Given the description of an element on the screen output the (x, y) to click on. 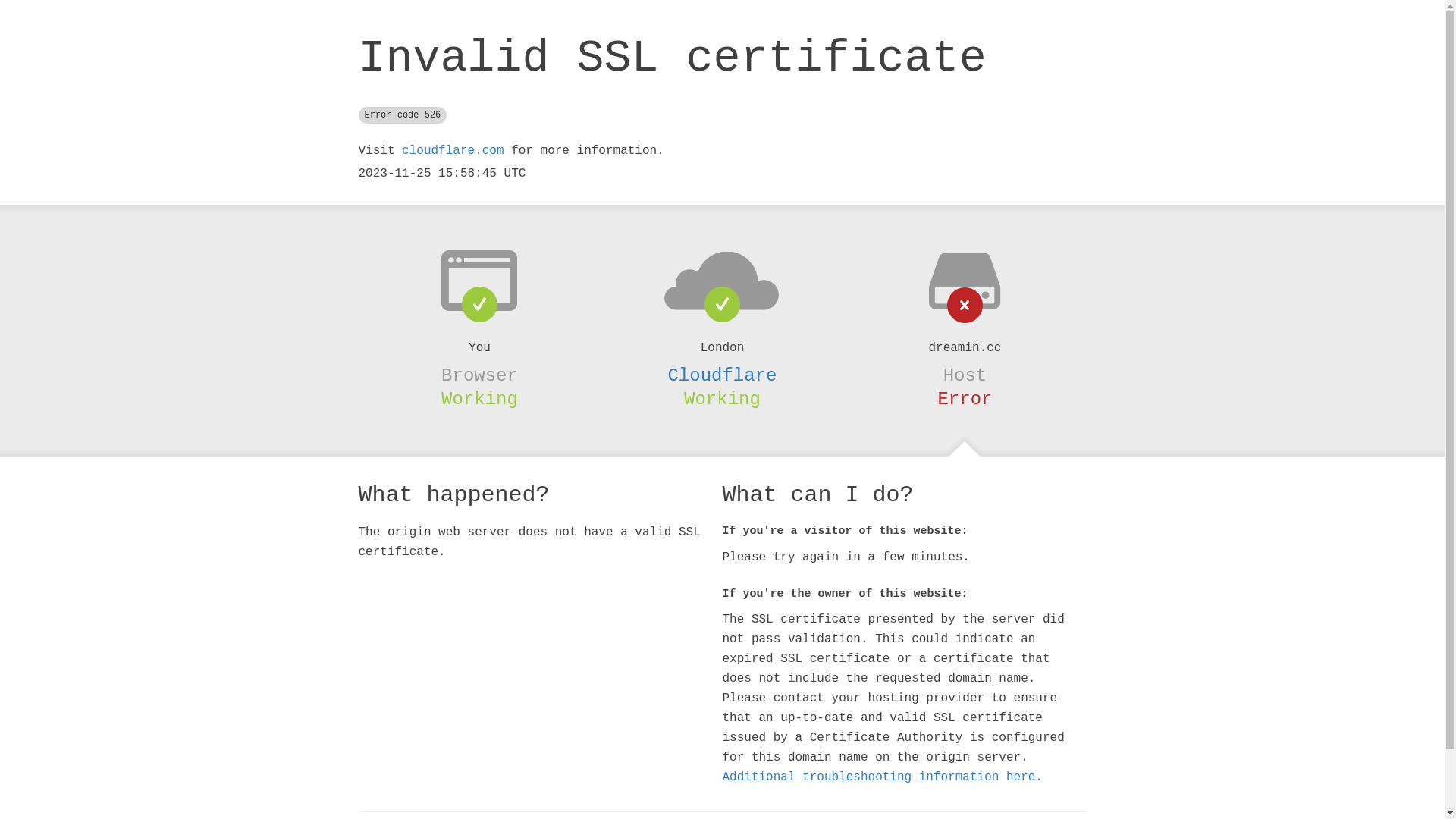
Additional troubleshooting information here. Element type: text (881, 777)
cloudflare.com Element type: text (452, 150)
Cloudflare Element type: text (721, 375)
